Given the description of an element on the screen output the (x, y) to click on. 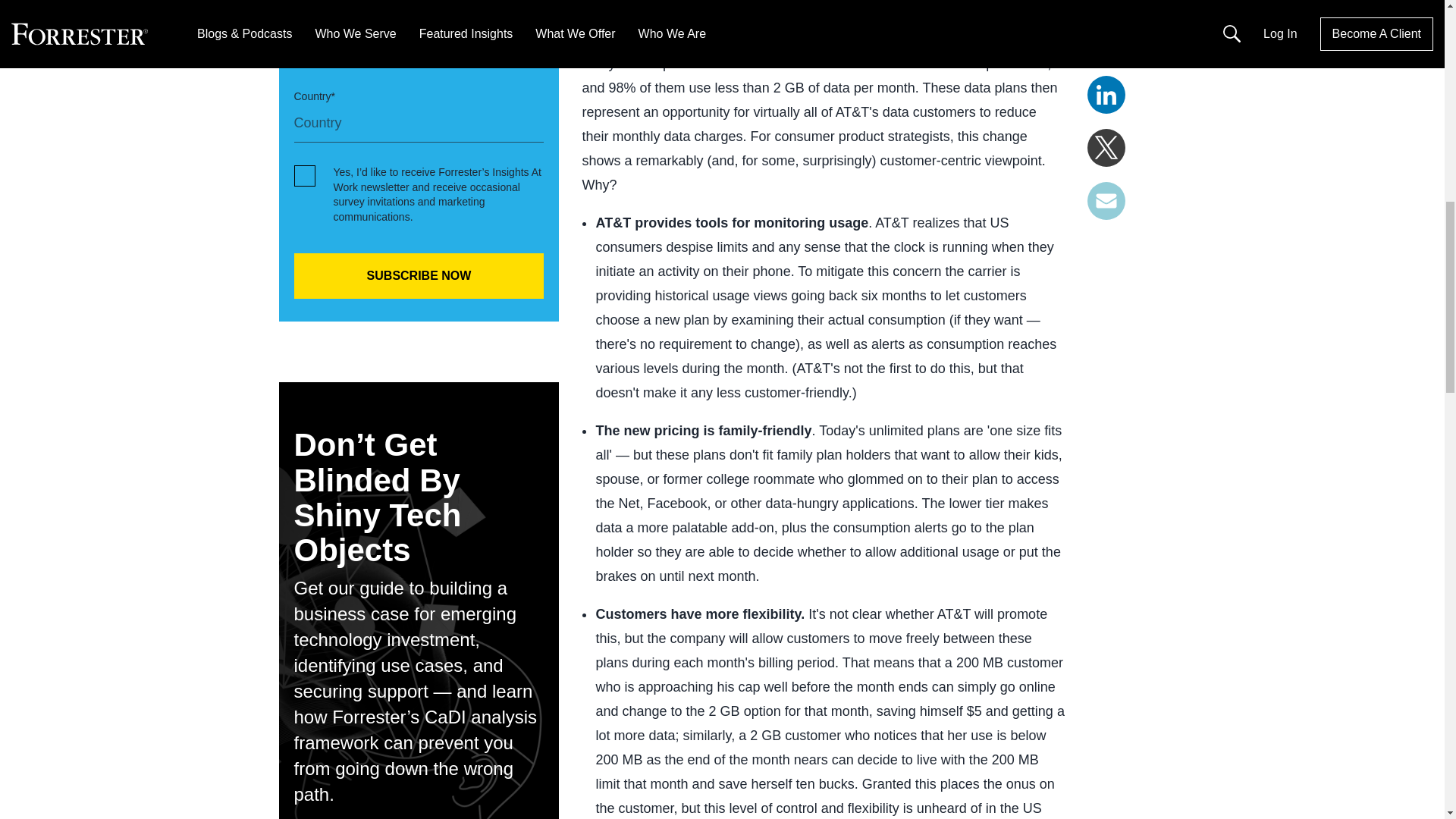
Subscribe Now (419, 275)
